Given the description of an element on the screen output the (x, y) to click on. 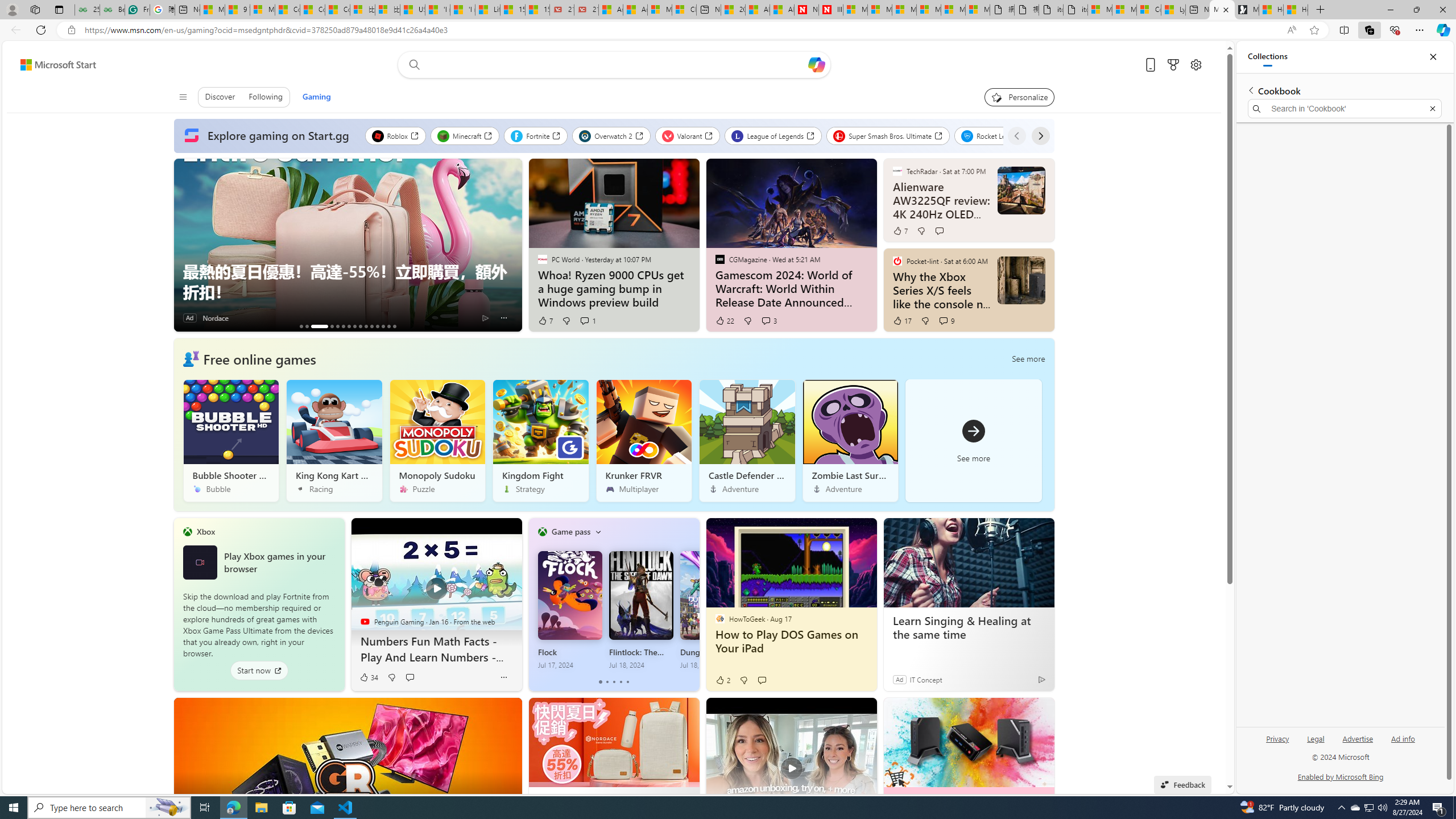
Previous (1016, 135)
Microsoft rewards (1173, 64)
League of Legends (773, 135)
20 Ways to Boost Your Protein Intake at Every Meal (732, 9)
itconcepthk.com/projector_solutions.mp4 (1075, 9)
Ad Choice (1041, 679)
Ad info (1402, 742)
tab-3 (620, 682)
View comments 9 Comment (946, 320)
Fortnite (535, 135)
Class: next-flipper (693, 604)
Class: icon-img (597, 531)
7 Like (900, 230)
17 Like (901, 320)
